Given the description of an element on the screen output the (x, y) to click on. 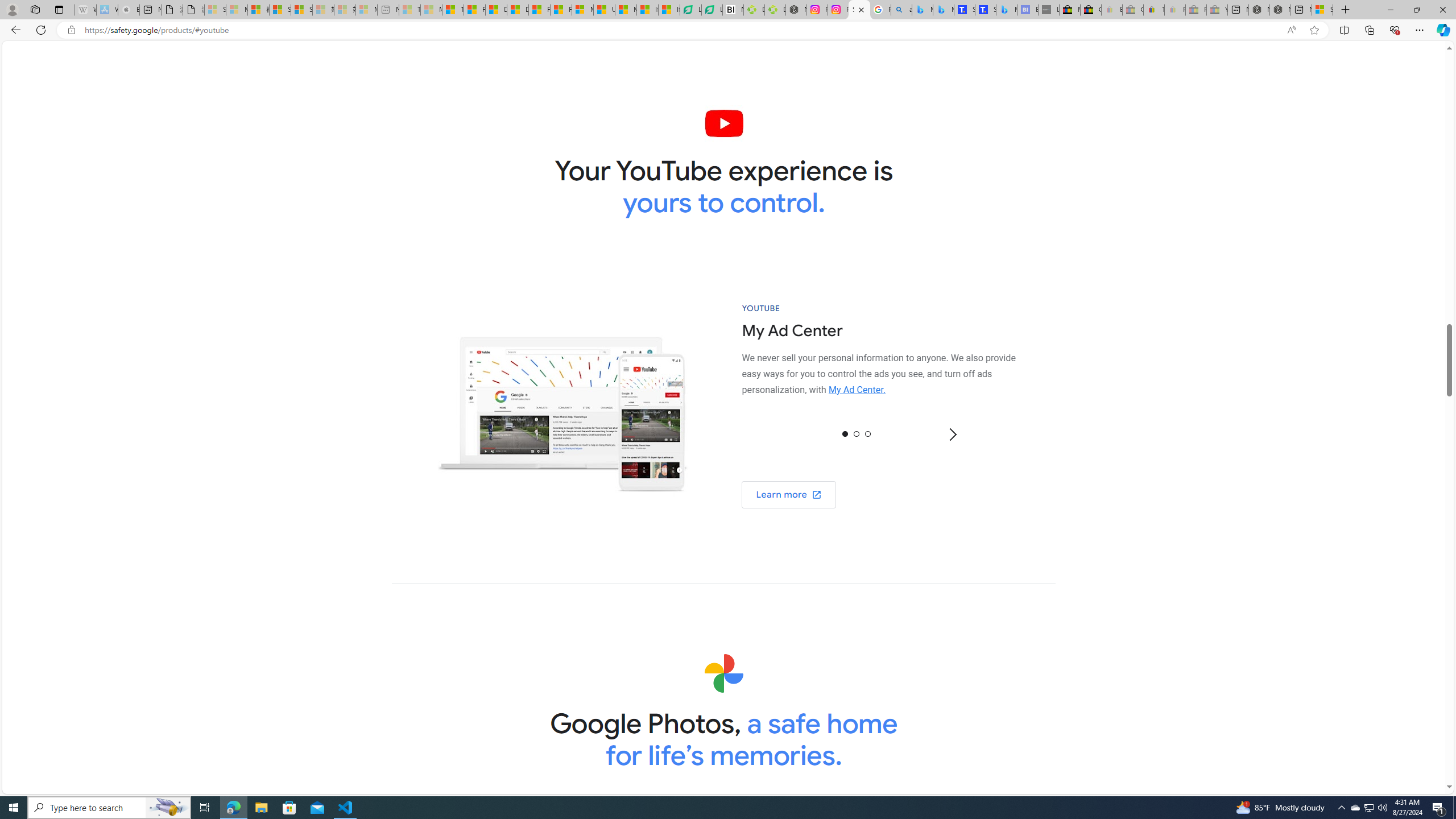
Next (952, 434)
0 (845, 433)
alabama high school quarterback dies - Search (901, 9)
Microsoft Bing Travel - Shangri-La Hotel Bangkok (1006, 9)
Shangri-La Bangkok, Hotel reviews and Room rates (985, 9)
